Given the description of an element on the screen output the (x, y) to click on. 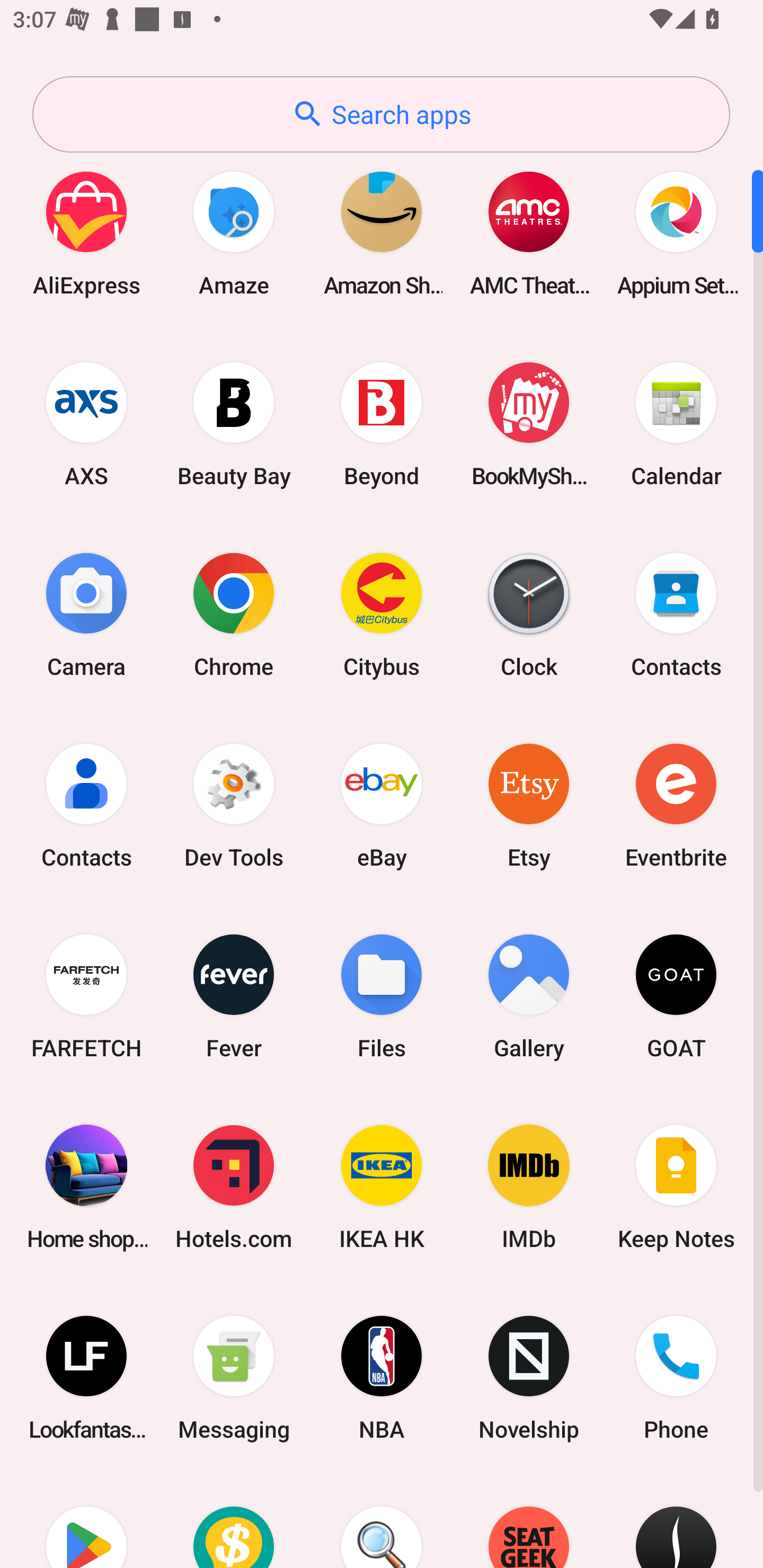
  Search apps (381, 114)
AliExpress (86, 233)
Amaze (233, 233)
Amazon Shopping (381, 233)
AMC Theatres (528, 233)
Appium Settings (676, 233)
AXS (86, 424)
Beauty Bay (233, 424)
Beyond (381, 424)
BookMyShow (528, 424)
Calendar (676, 424)
Camera (86, 614)
Chrome (233, 614)
Citybus (381, 614)
Clock (528, 614)
Contacts (676, 614)
Contacts (86, 805)
Dev Tools (233, 805)
eBay (381, 805)
Etsy (528, 805)
Eventbrite (676, 805)
FARFETCH (86, 996)
Fever (233, 996)
Files (381, 996)
Gallery (528, 996)
GOAT (676, 996)
Home shopping (86, 1186)
Hotels.com (233, 1186)
IKEA HK (381, 1186)
IMDb (528, 1186)
Keep Notes (676, 1186)
Lookfantastic (86, 1377)
Messaging (233, 1377)
NBA (381, 1377)
Novelship (528, 1377)
Phone (676, 1377)
Play Store (86, 1520)
Price (233, 1520)
Search (381, 1520)
SeatGeek (528, 1520)
Sephora (676, 1520)
